Given the description of an element on the screen output the (x, y) to click on. 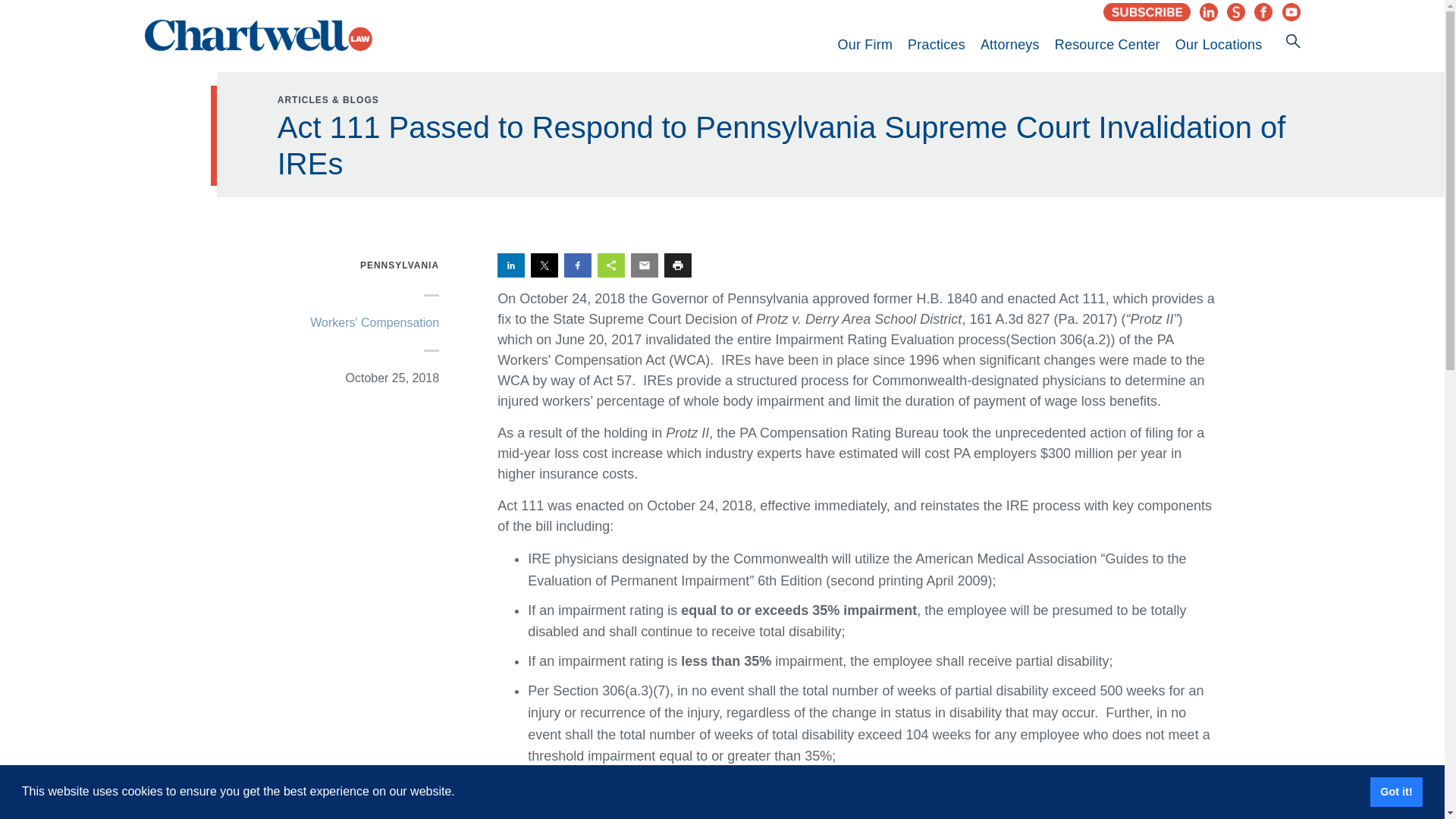
Got it! (1396, 791)
Attorneys (1009, 44)
Workers' Compensation (374, 322)
Our Locations (1218, 44)
Resource Center (1106, 44)
Practices (935, 44)
